Given the description of an element on the screen output the (x, y) to click on. 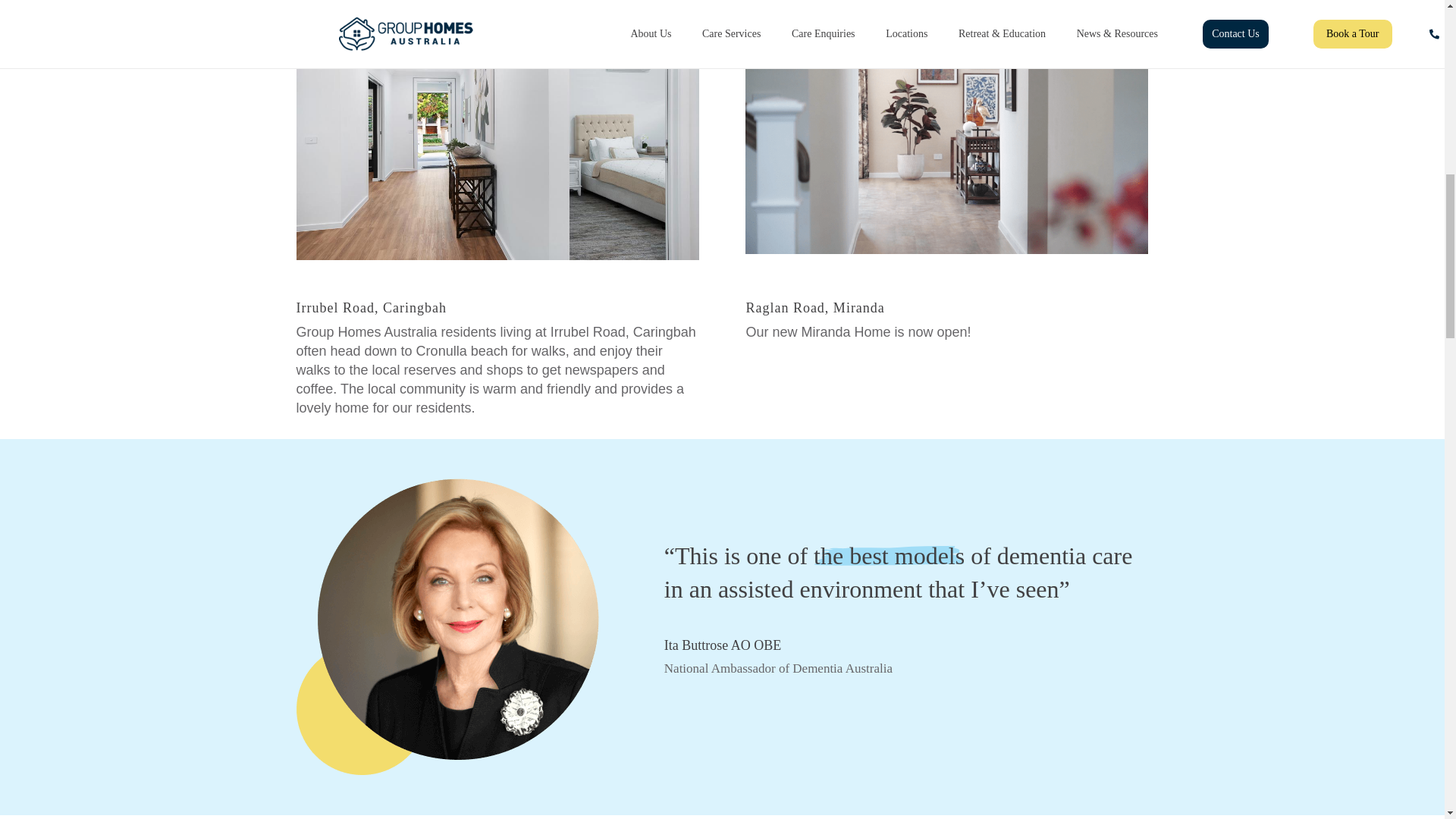
Group Homes Australia 11.6.20 - WEB - 004 (496, 130)
Screenshot 2023-05-31 at 2.31.05 pm (946, 126)
ita buttrose (446, 626)
